Given the description of an element on the screen output the (x, y) to click on. 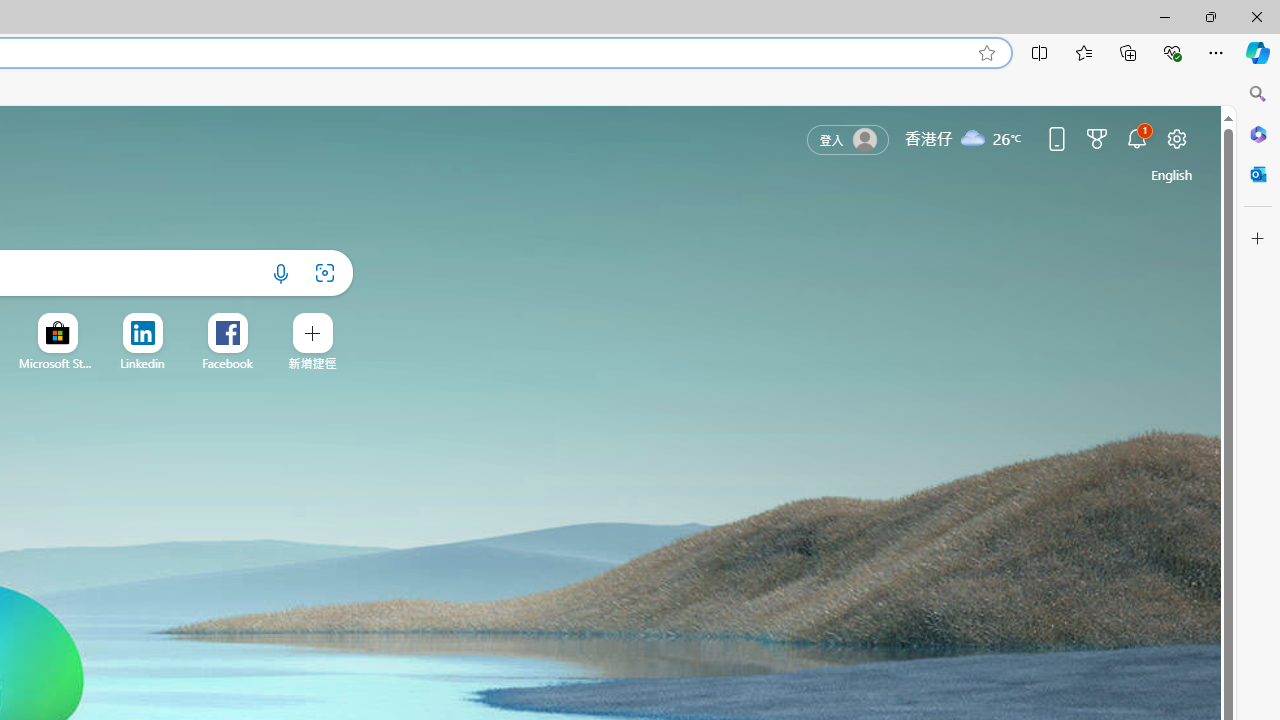
Microsoft Store (57, 363)
United States (English) (1171, 174)
Microsoft Rewards (1096, 138)
